Given the description of an element on the screen output the (x, y) to click on. 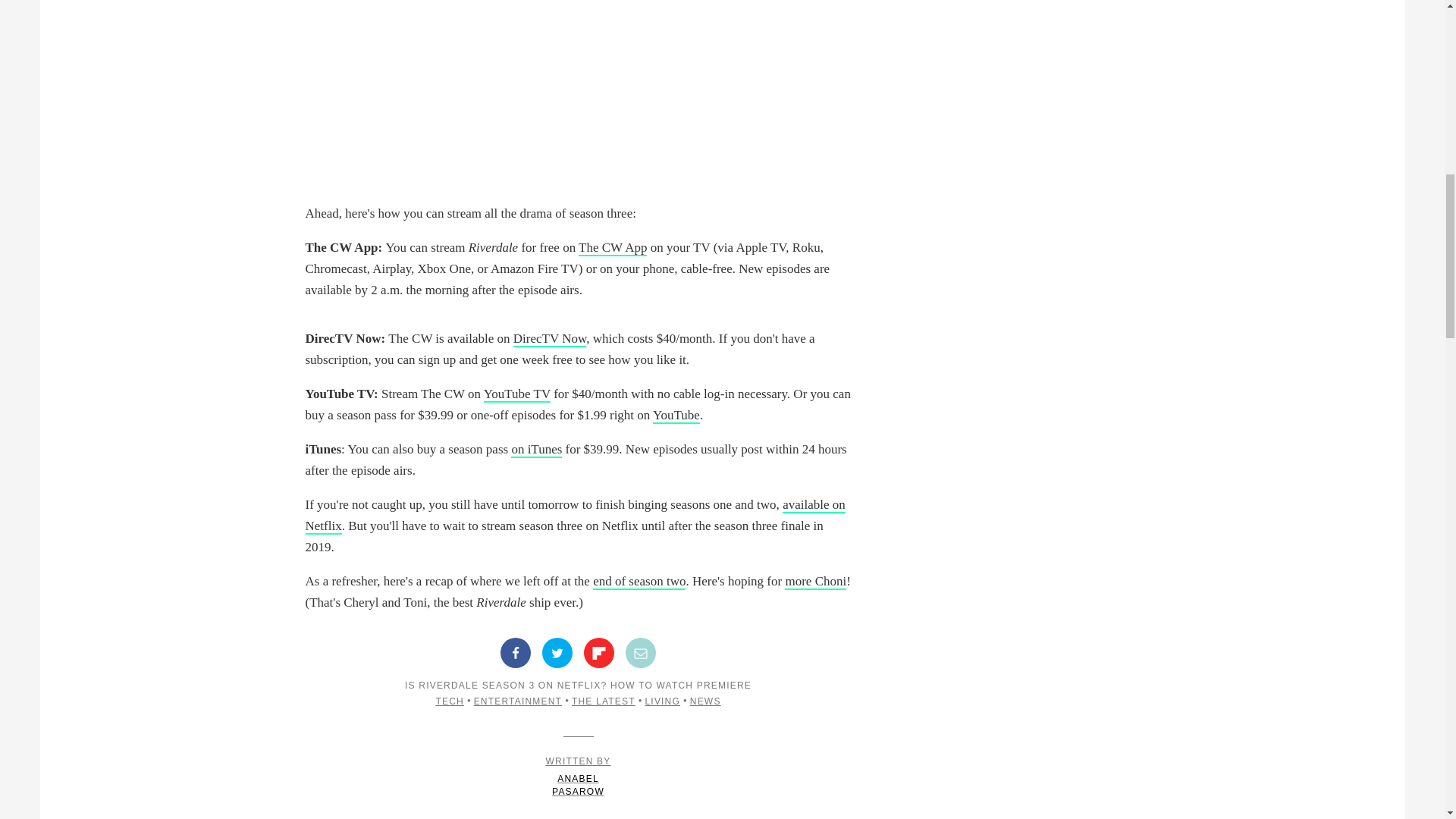
DirecTV Now (549, 339)
YouTube (676, 415)
The CW App (612, 248)
Share by Email (641, 653)
TECH (449, 701)
3rd party ad content (577, 79)
Share on Flipboard (598, 653)
YouTube TV (516, 394)
end of season two (638, 581)
ENTERTAINMENT (518, 701)
on iTunes (536, 449)
Share on Twitter (556, 653)
more Choni (814, 581)
available on Netflix (574, 515)
Share on Facebook (515, 653)
